Given the description of an element on the screen output the (x, y) to click on. 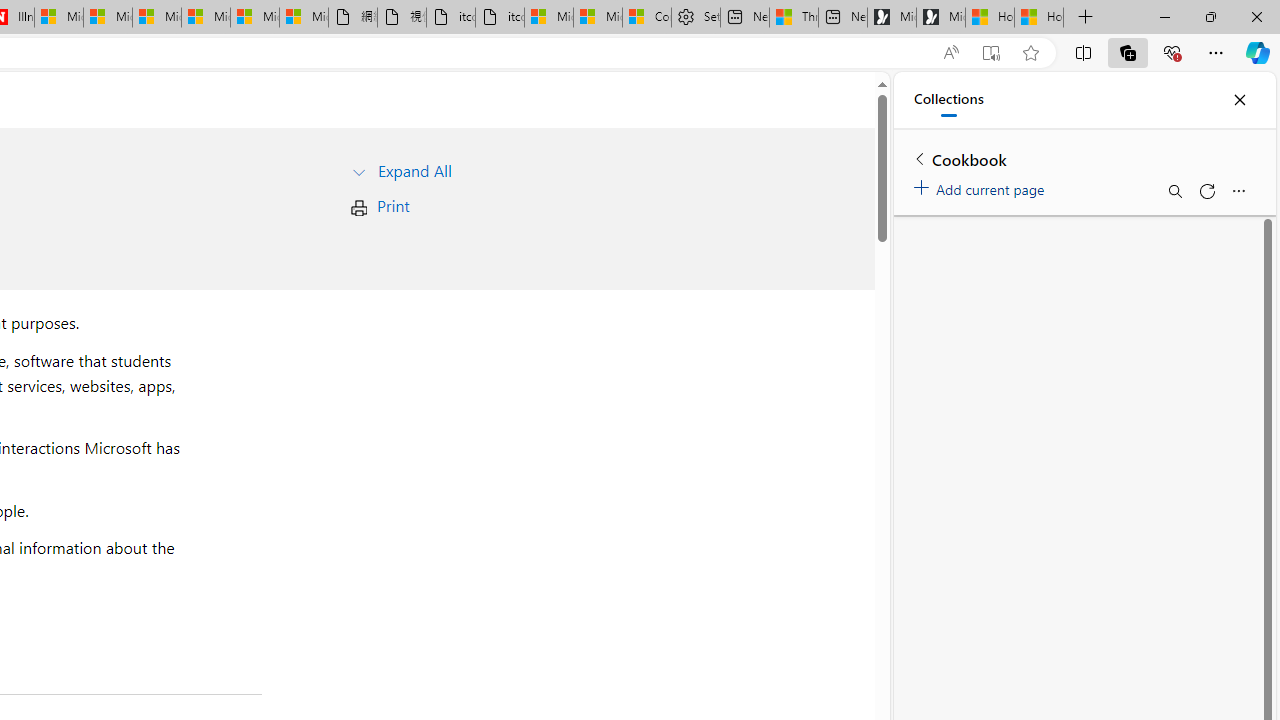
Add current page (982, 186)
More options menu (1238, 190)
Three Ways To Stop Sweating So Much (793, 17)
Expand All (414, 170)
